Given the description of an element on the screen output the (x, y) to click on. 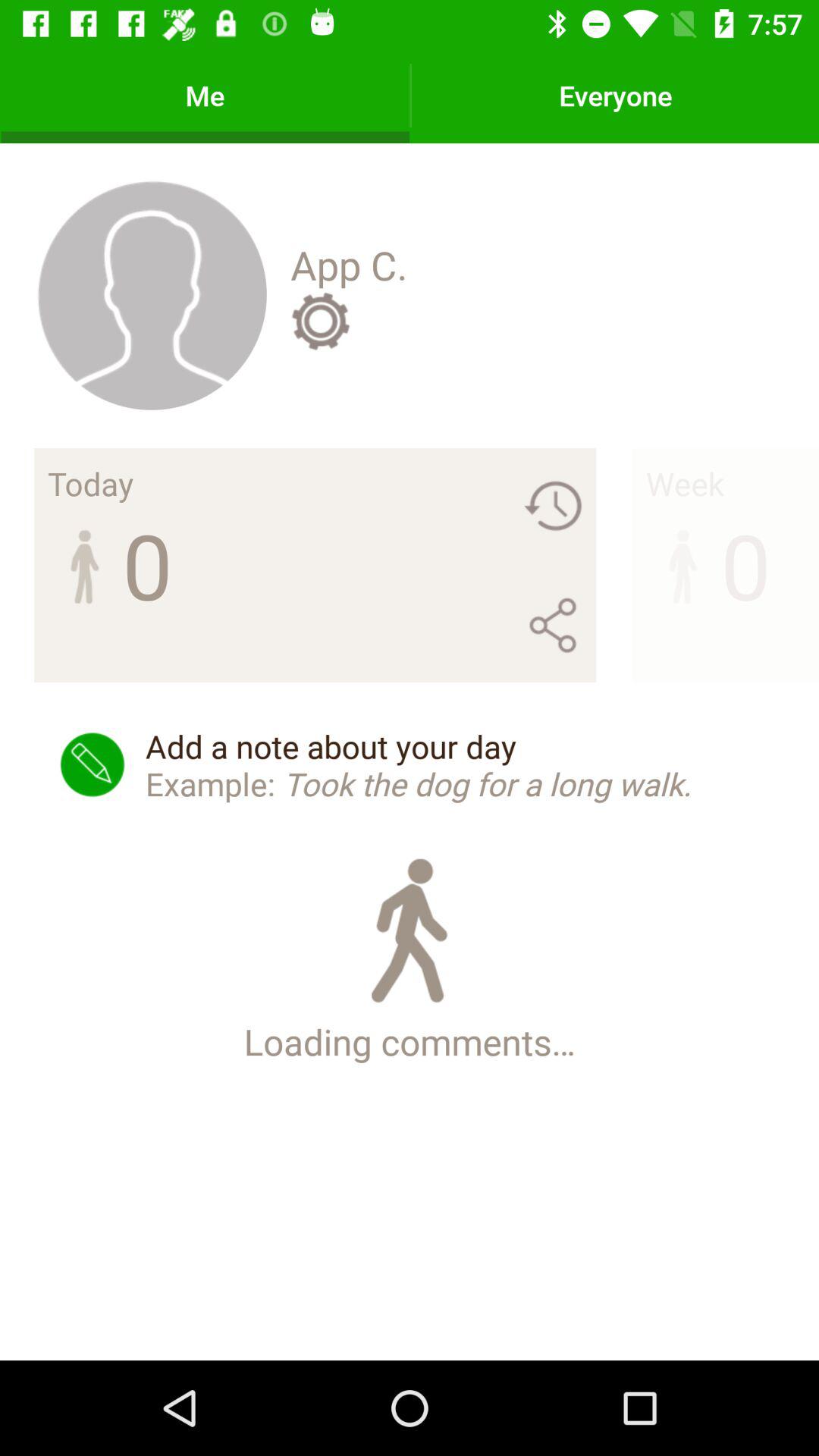
launch the app c. icon (348, 264)
